Given the description of an element on the screen output the (x, y) to click on. 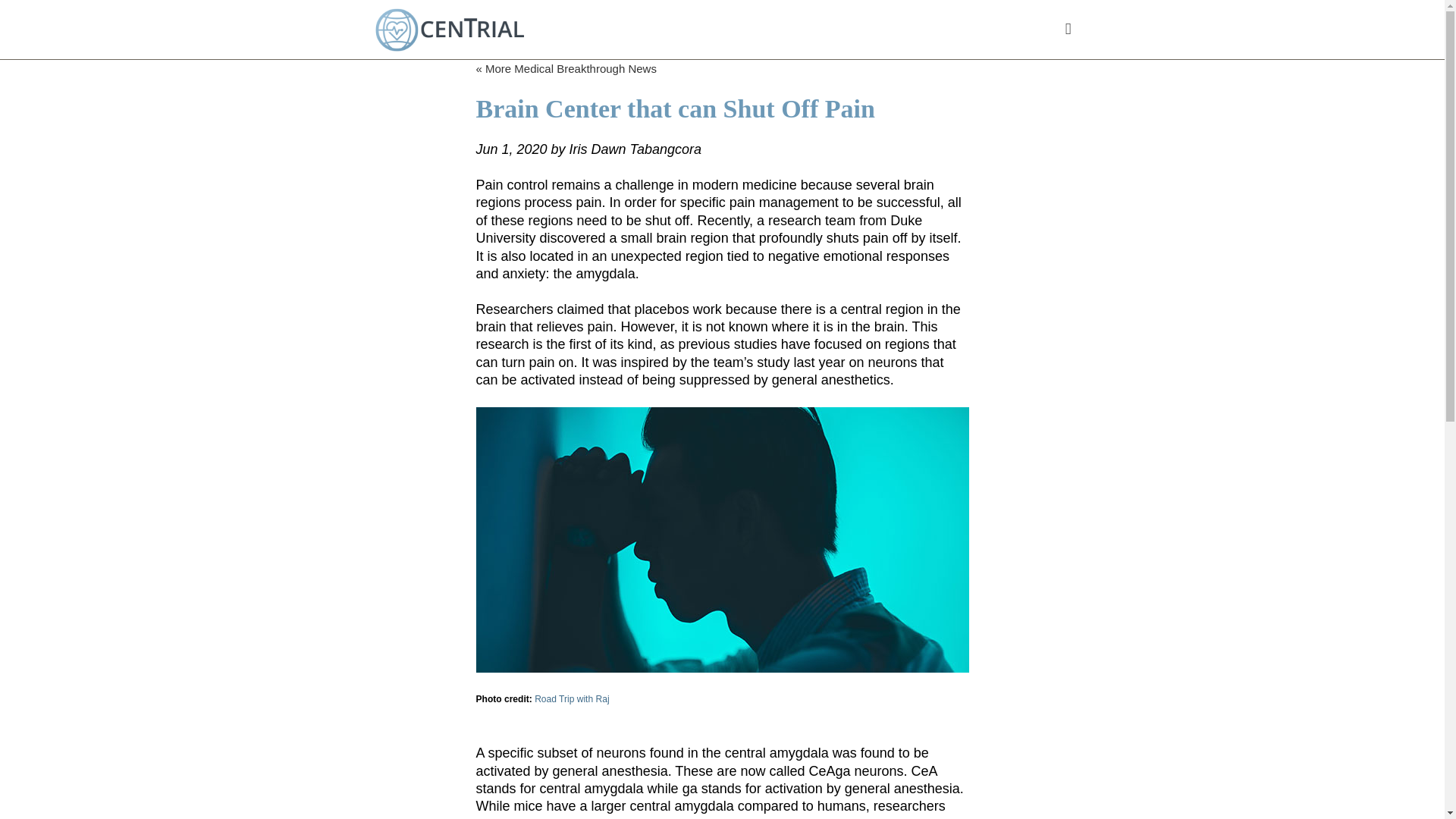
Road Trip with Raj (571, 698)
